Given the description of an element on the screen output the (x, y) to click on. 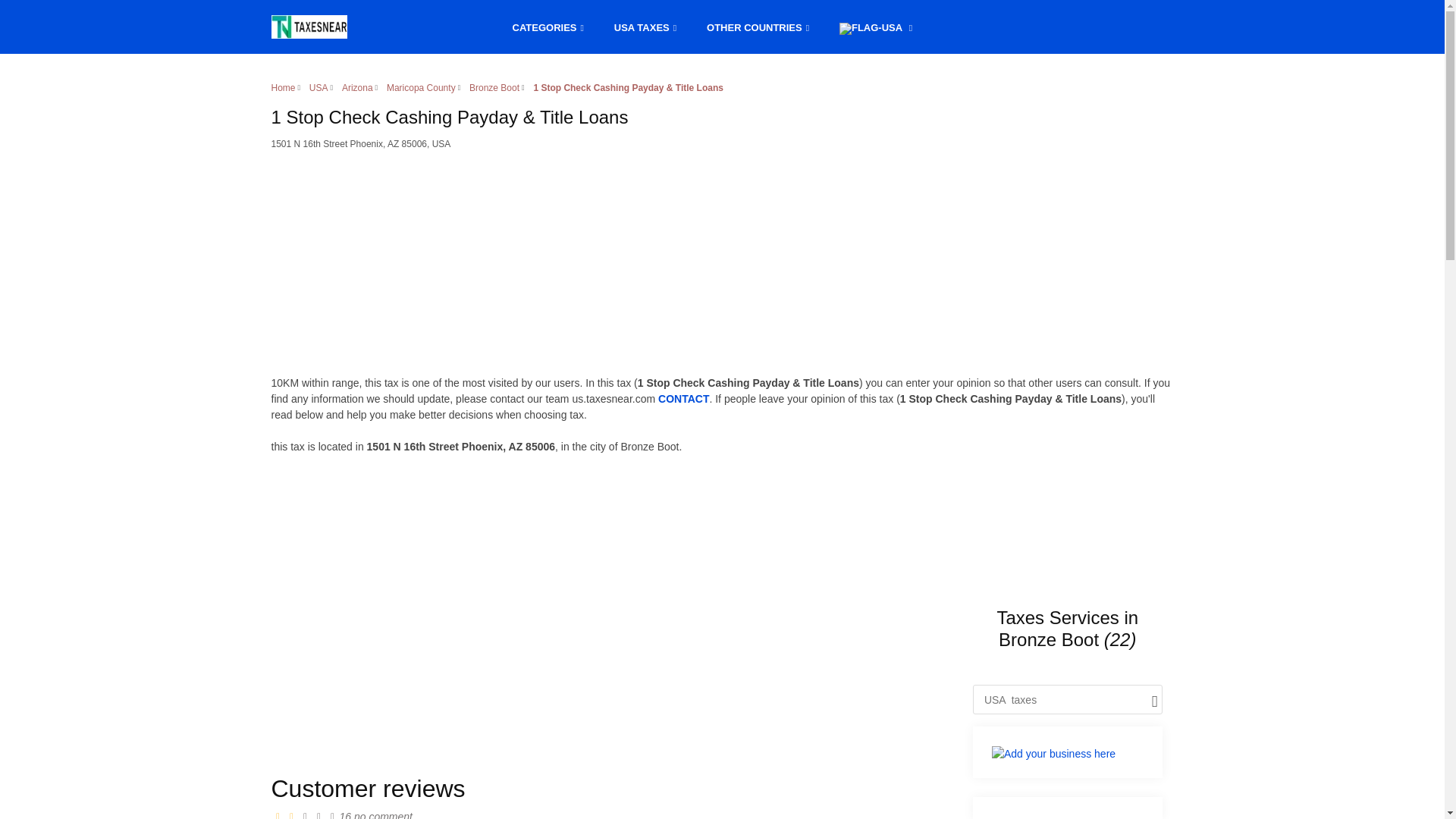
CATEGORIES (547, 25)
USA TAXES (644, 25)
OTHER COUNTRIES (757, 25)
